Given the description of an element on the screen output the (x, y) to click on. 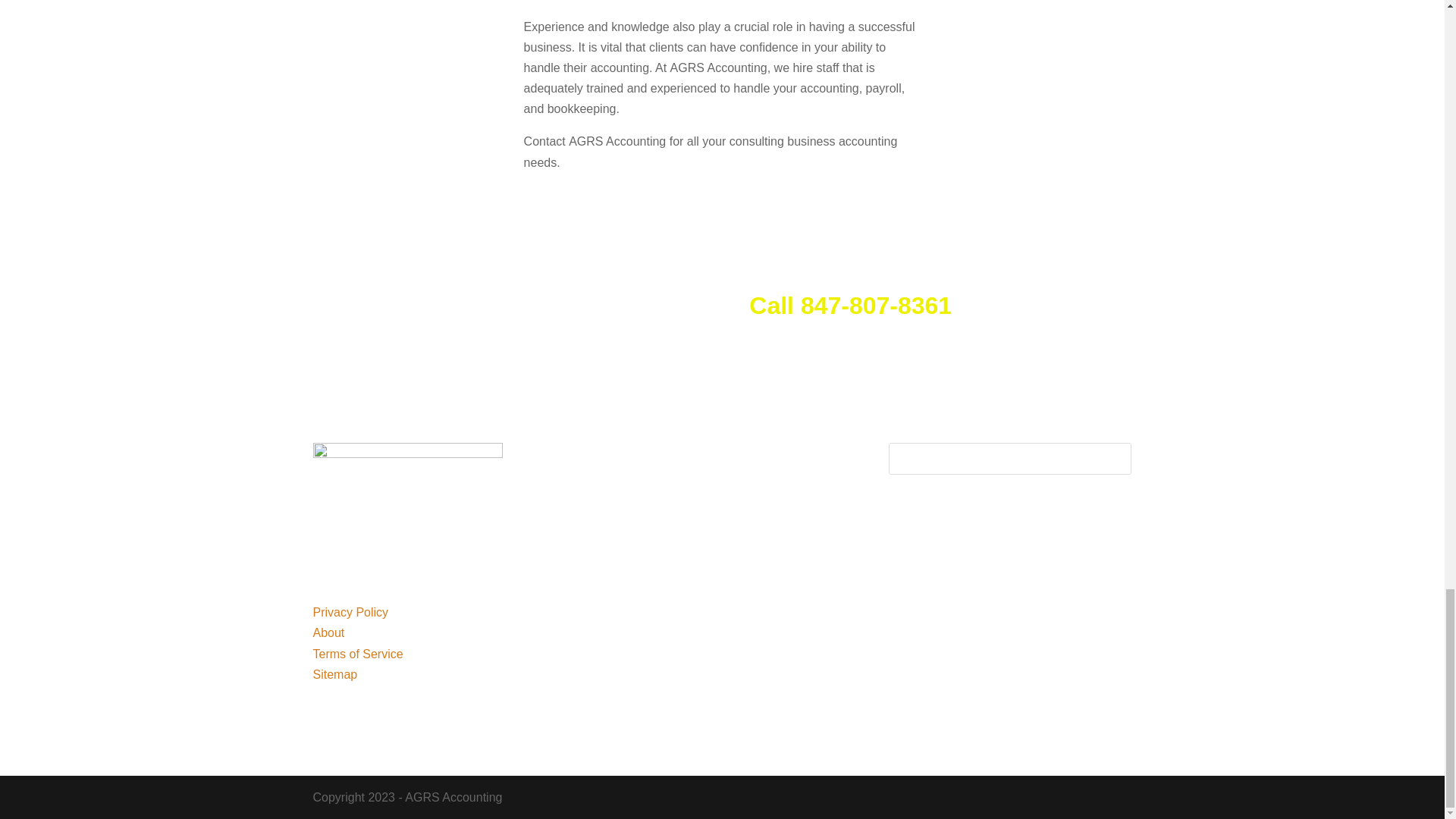
Search (1104, 458)
Search (1104, 458)
